Given the description of an element on the screen output the (x, y) to click on. 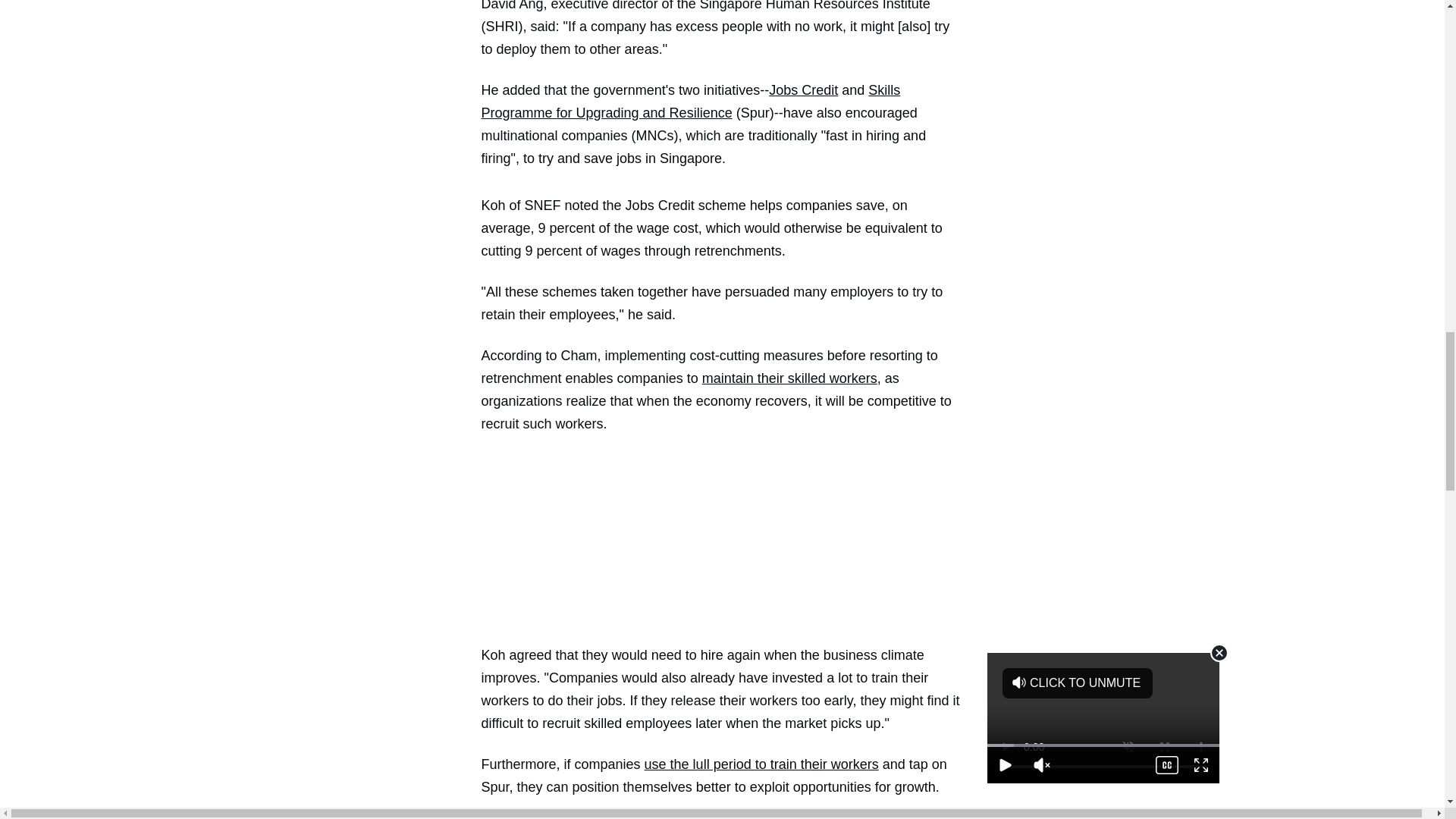
Broader skill sets way to retrain -- Tuesday, Mar. 24, 2009 (762, 764)
